Given the description of an element on the screen output the (x, y) to click on. 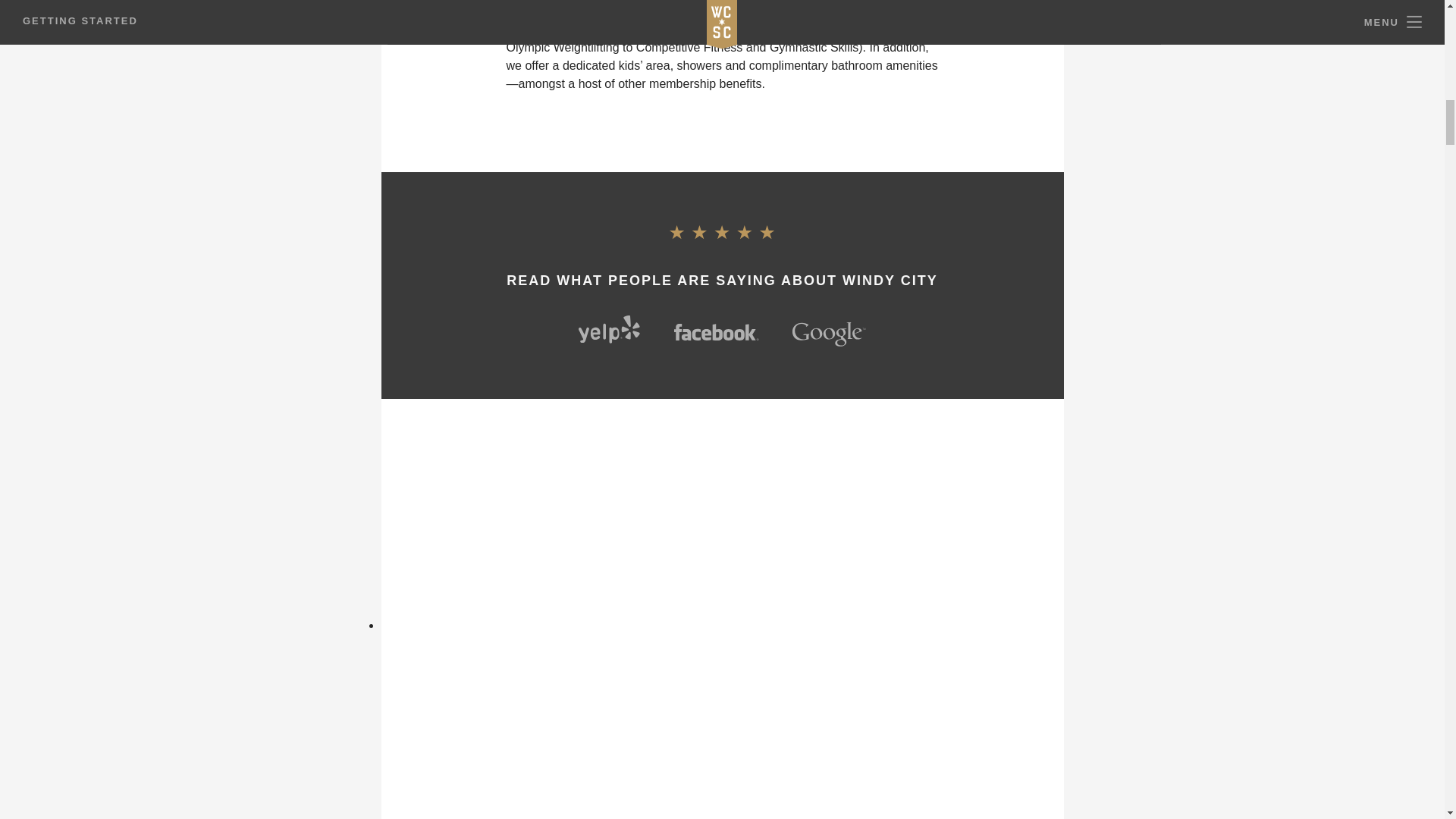
Facebook (715, 331)
Google (829, 334)
Yelp (609, 329)
